Given the description of an element on the screen output the (x, y) to click on. 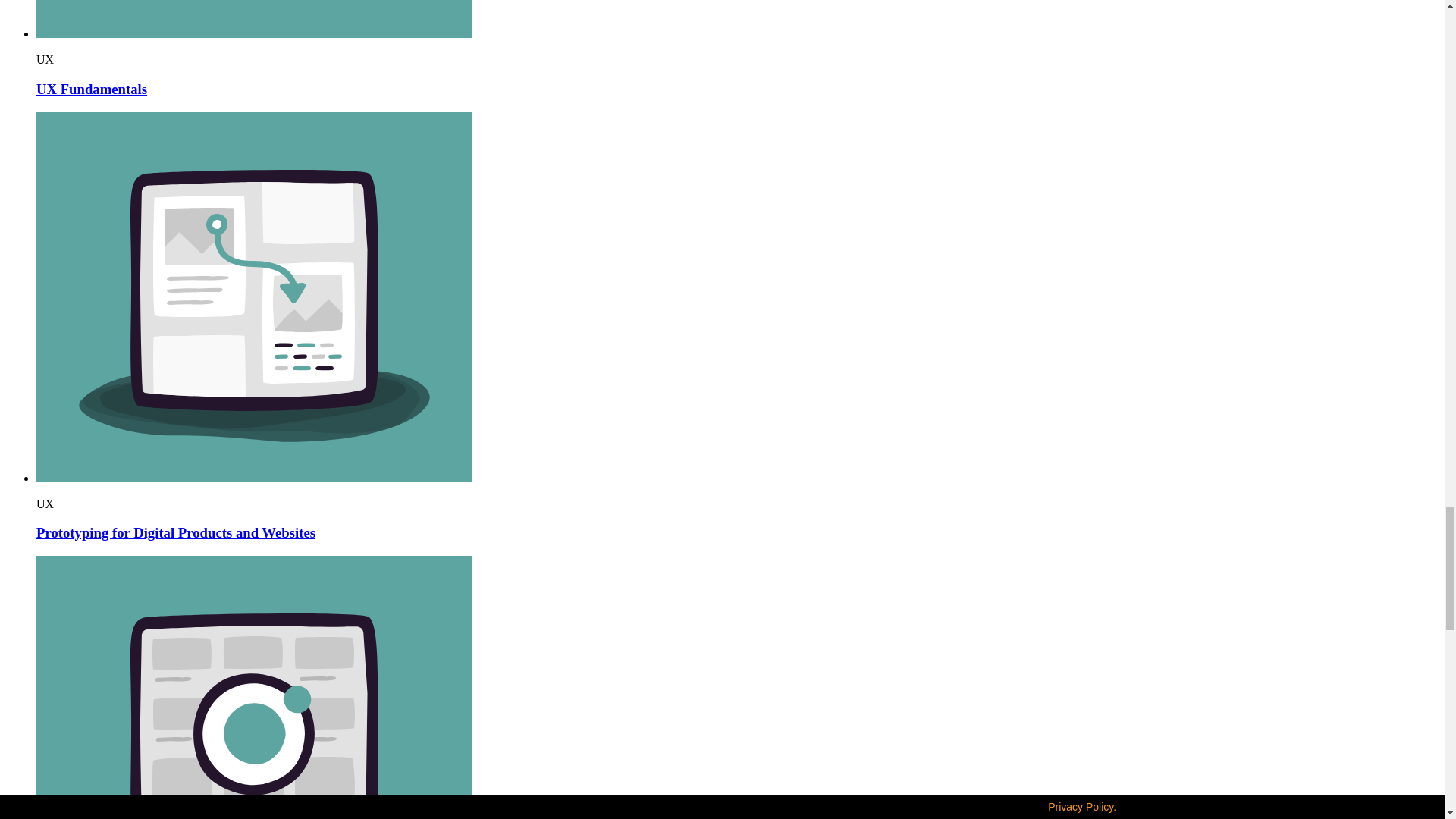
UX Fundamentals (91, 89)
Prototyping for Digital Products and Websites (175, 532)
